Given the description of an element on the screen output the (x, y) to click on. 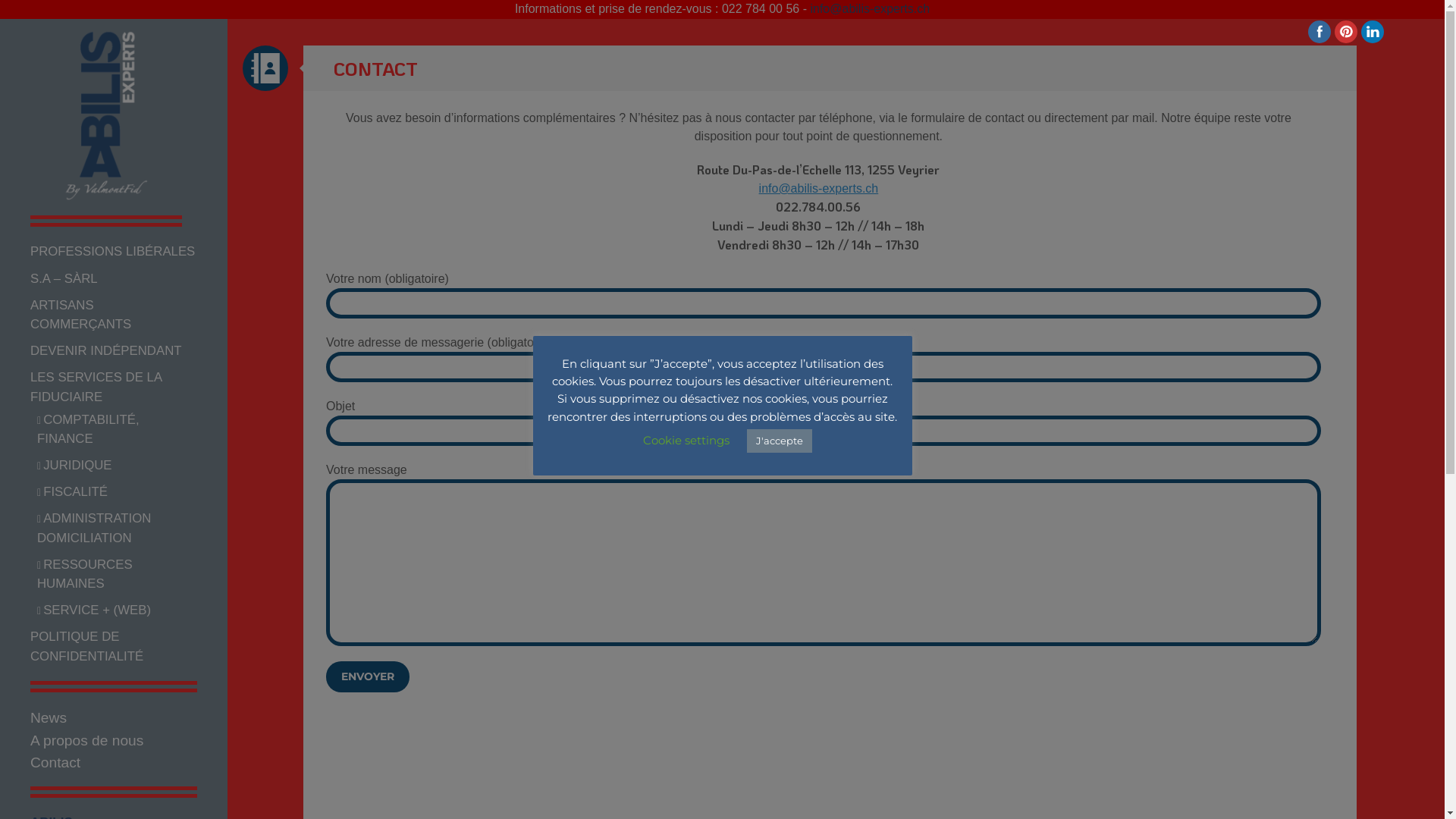
Pinterest Element type: hover (1345, 31)
A propos de nous Element type: text (86, 740)
News Element type: text (48, 717)
Envoyer Element type: text (367, 676)
info@abilis-experts.ch Element type: text (869, 8)
LinkedIn Element type: hover (1372, 31)
ABILIS EXPERTS Element type: text (91, 225)
J'accepte Element type: text (778, 440)
Cookie settings Element type: text (686, 440)
Abilis Experts Element type: hover (106, 115)
Facebook Element type: hover (1319, 31)
LES SERVICES DE LA FIDUCIAIRE Element type: text (95, 387)
Contact Element type: text (55, 762)
SERVICE + (WEB) Element type: text (96, 610)
JURIDIQUE Element type: text (77, 465)
ADMINISTRATION DOMICILIATION Element type: text (93, 528)
info@abilis-experts.ch Element type: text (818, 188)
RESSOURCES HUMAINES Element type: text (84, 574)
